Given the description of an element on the screen output the (x, y) to click on. 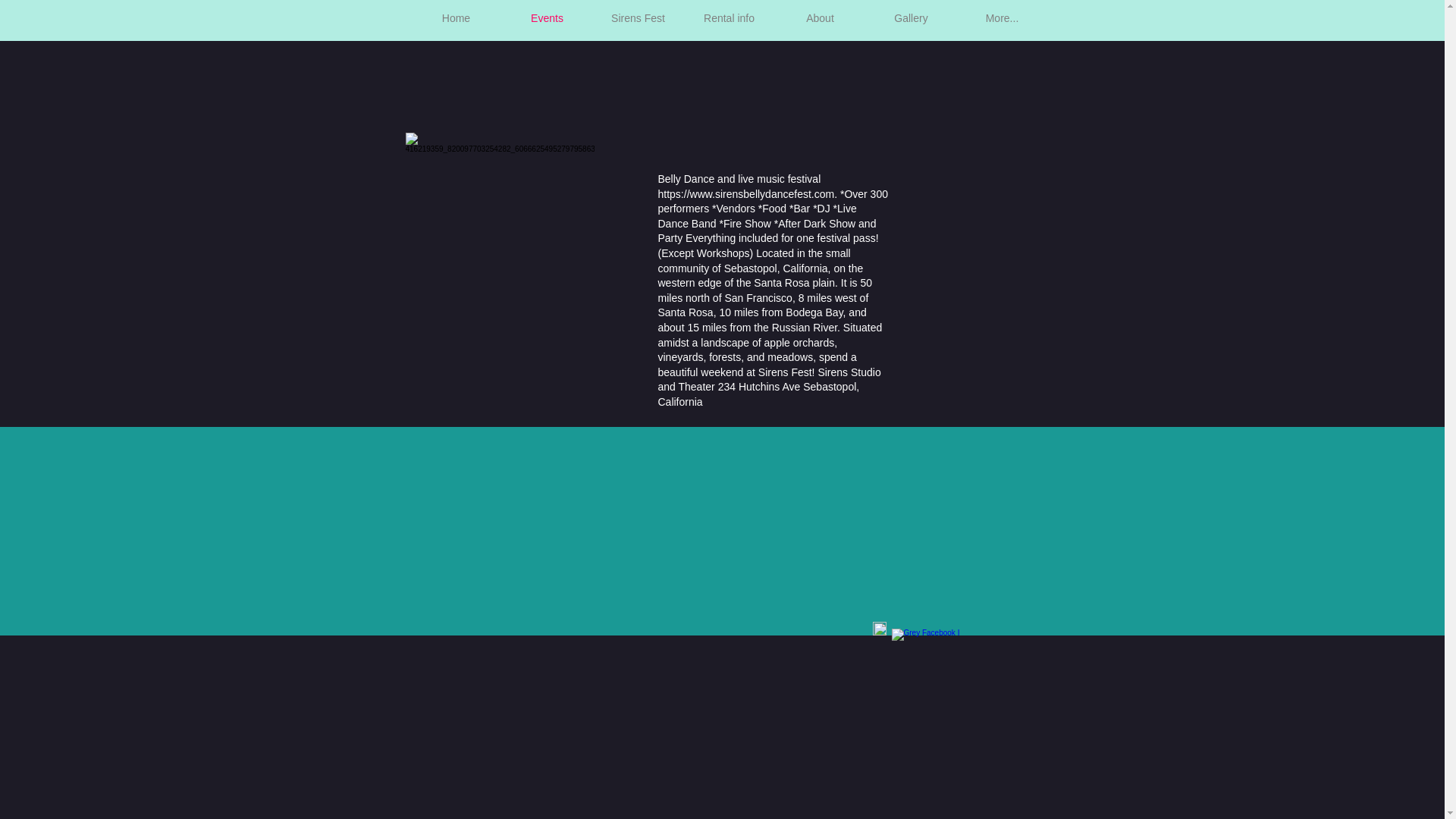
Rental info (729, 18)
About (820, 18)
Home (456, 18)
Events (547, 18)
Gallery (911, 18)
Sirens Fest (638, 18)
